Given the description of an element on the screen output the (x, y) to click on. 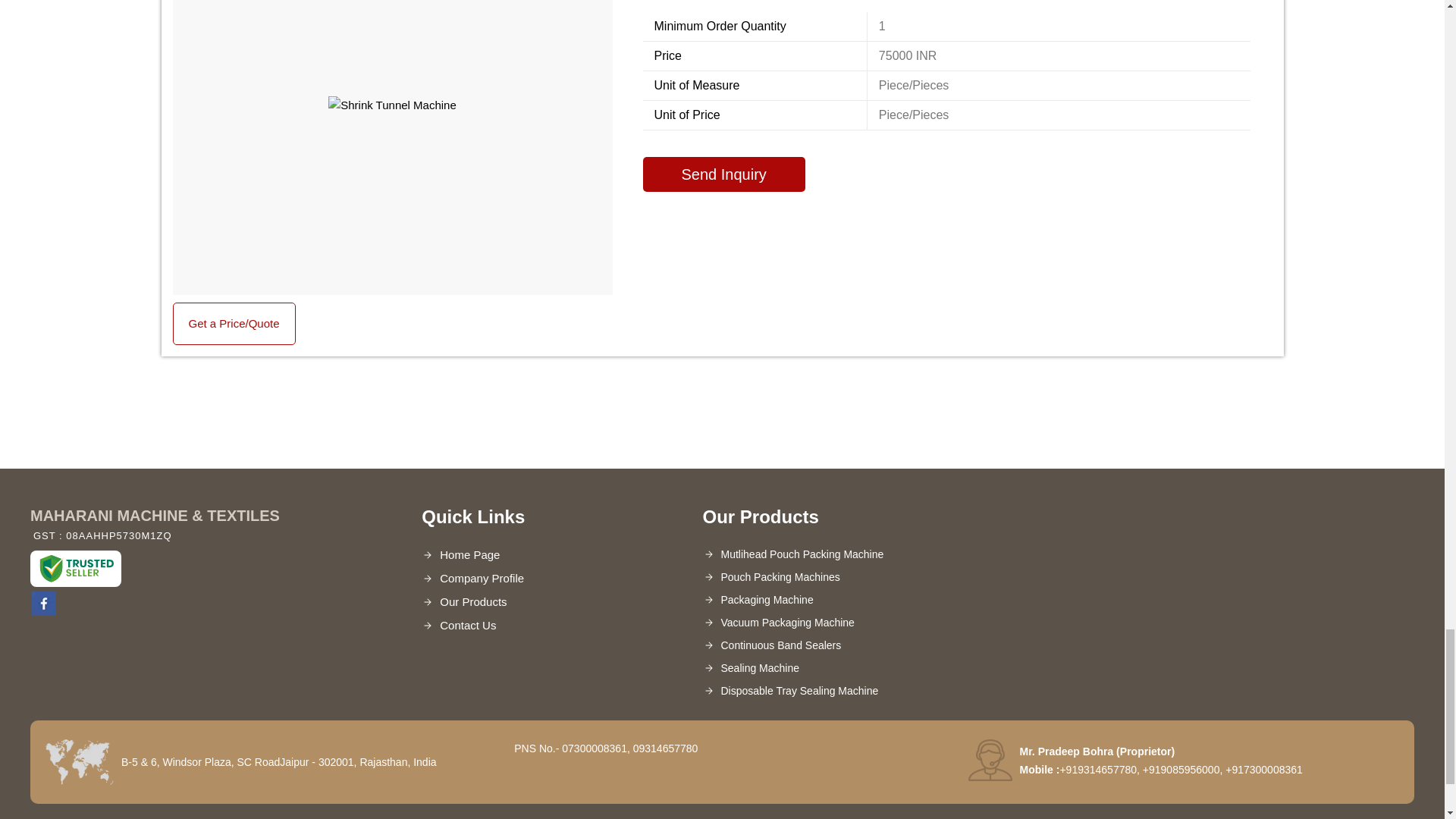
Facebook (44, 611)
